Given the description of an element on the screen output the (x, y) to click on. 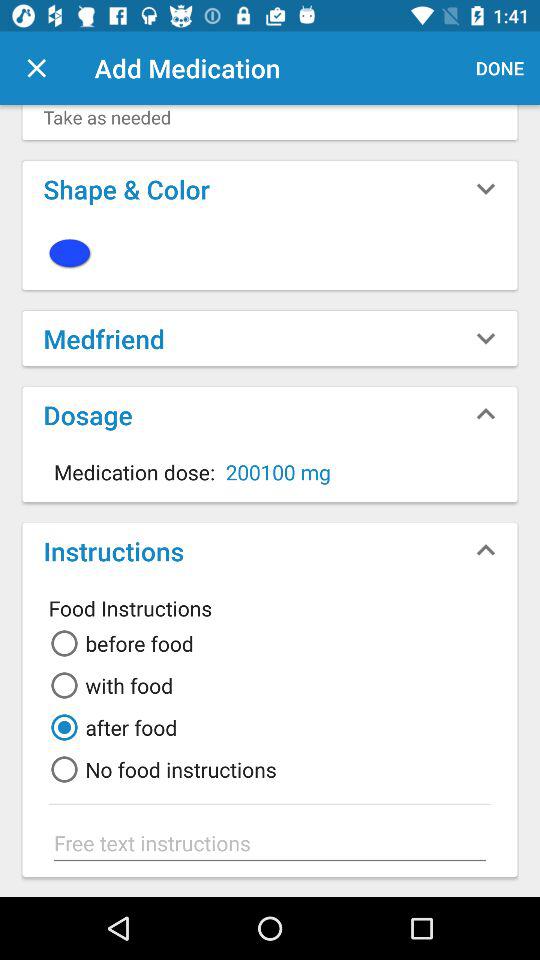
close (36, 68)
